Given the description of an element on the screen output the (x, y) to click on. 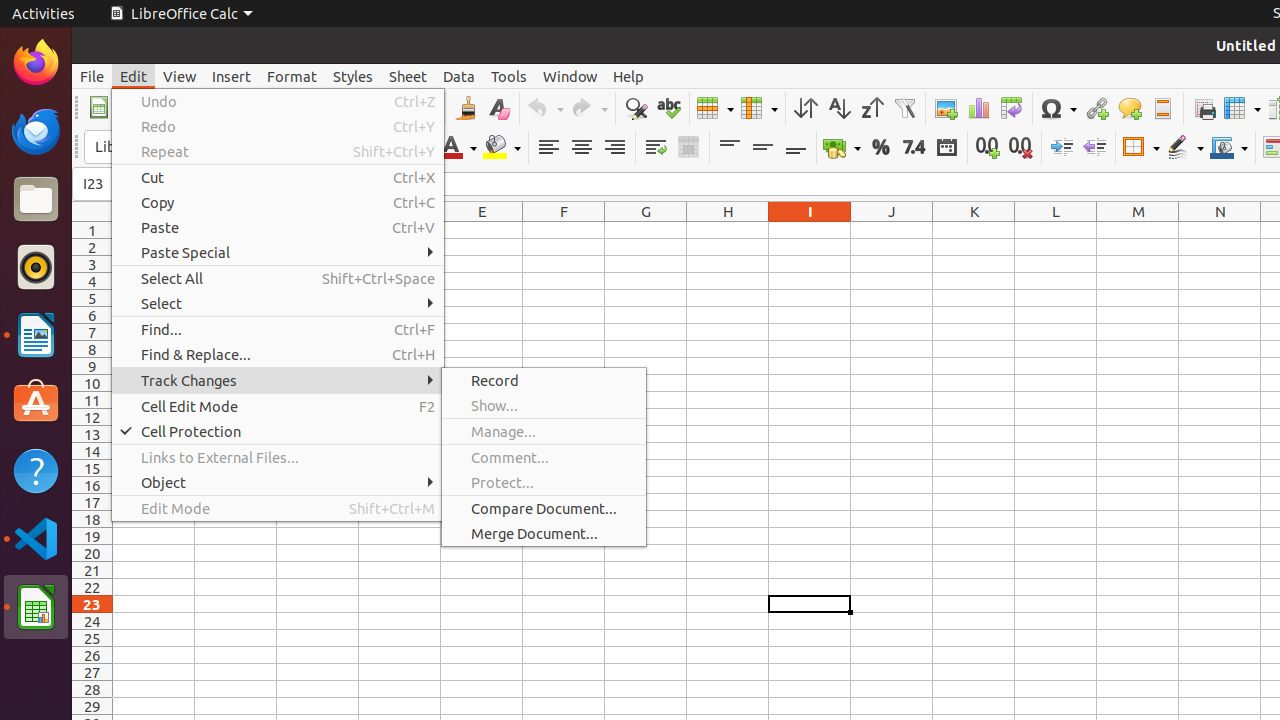
Undo Element type: push-button (545, 108)
Cut Element type: menu-item (278, 177)
